Given the description of an element on the screen output the (x, y) to click on. 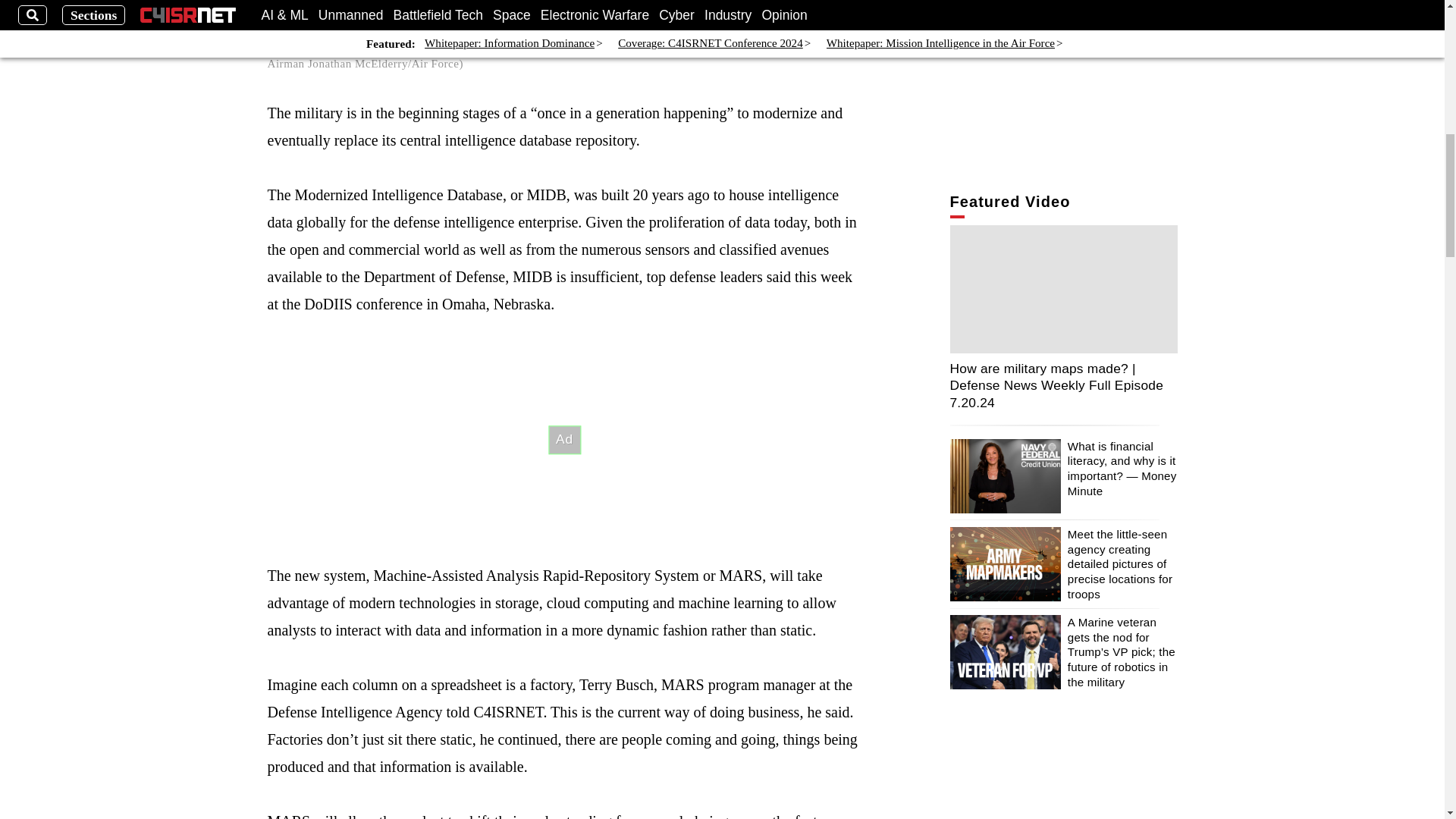
3rd party ad content (563, 439)
